Given the description of an element on the screen output the (x, y) to click on. 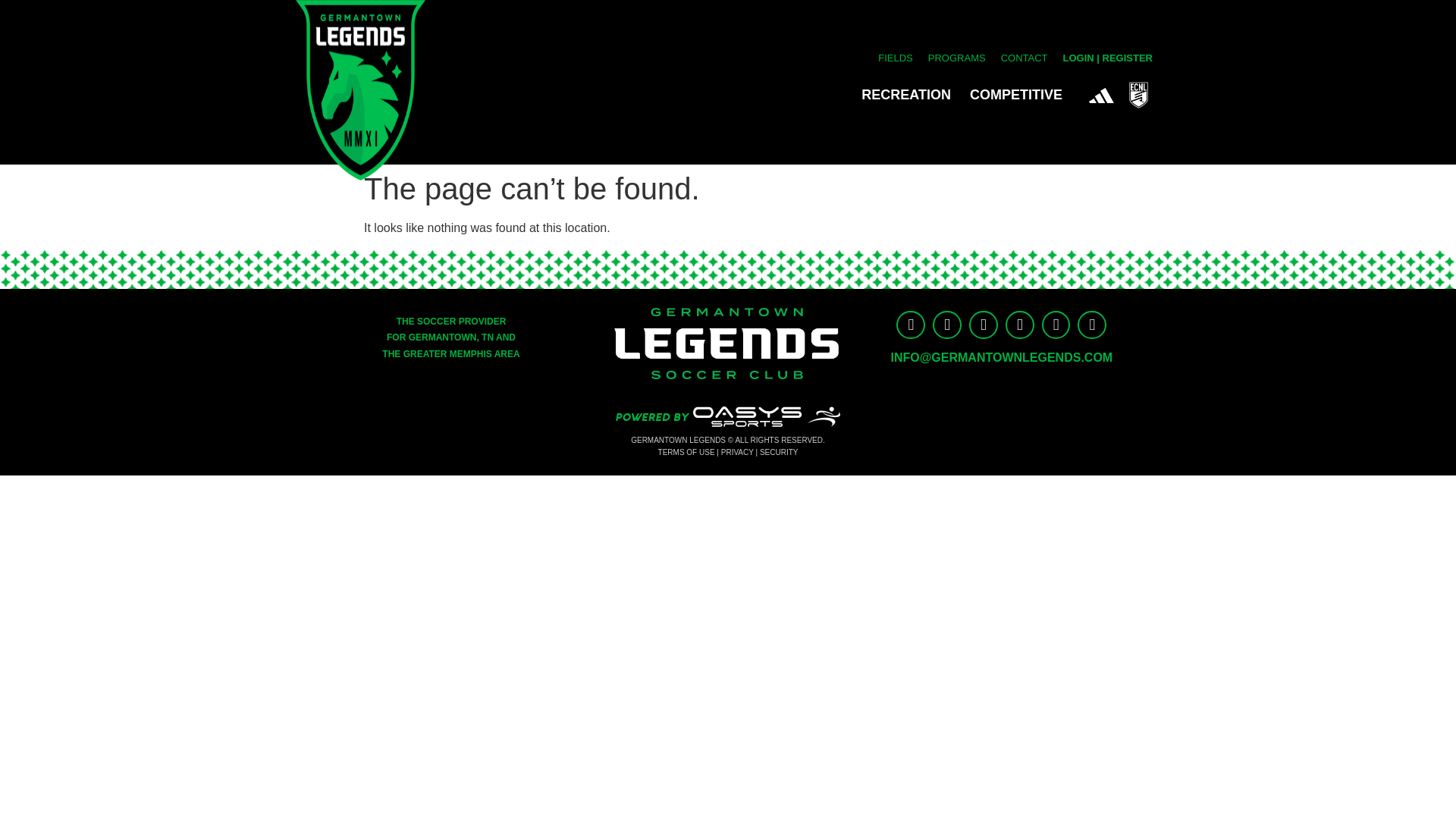
FIELDS (895, 57)
RECREATION (909, 94)
CONTACT (1023, 57)
PROGRAMS (956, 57)
COMPETITIVE (1020, 94)
